Given the description of an element on the screen output the (x, y) to click on. 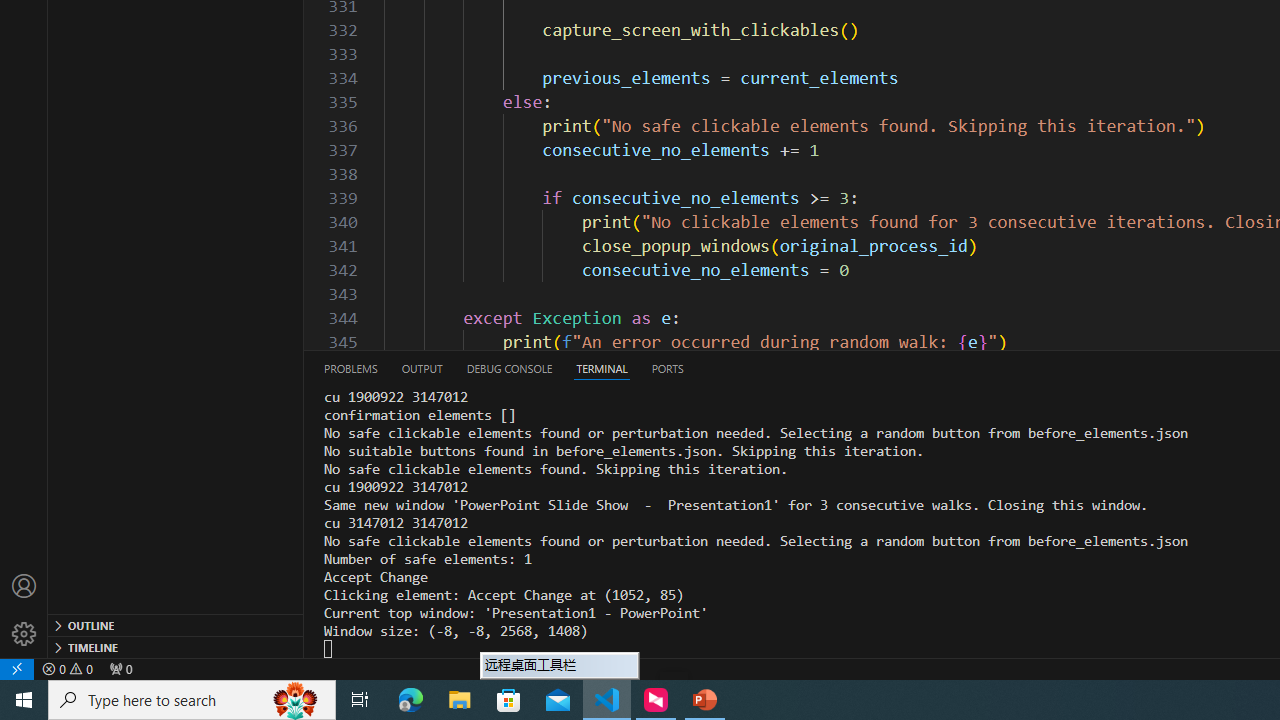
No Ports Forwarded (120, 668)
Problems (Ctrl+Shift+M) (351, 368)
Manage (24, 633)
Debug Console (Ctrl+Shift+Y) (509, 368)
Output (Ctrl+Shift+U) (421, 368)
remote (17, 668)
Ports (667, 368)
Outline Section (175, 624)
Timeline Section (175, 646)
Manage (24, 610)
Terminal (Ctrl+`) (602, 368)
No Problems (67, 668)
Accounts (24, 585)
